Given the description of an element on the screen output the (x, y) to click on. 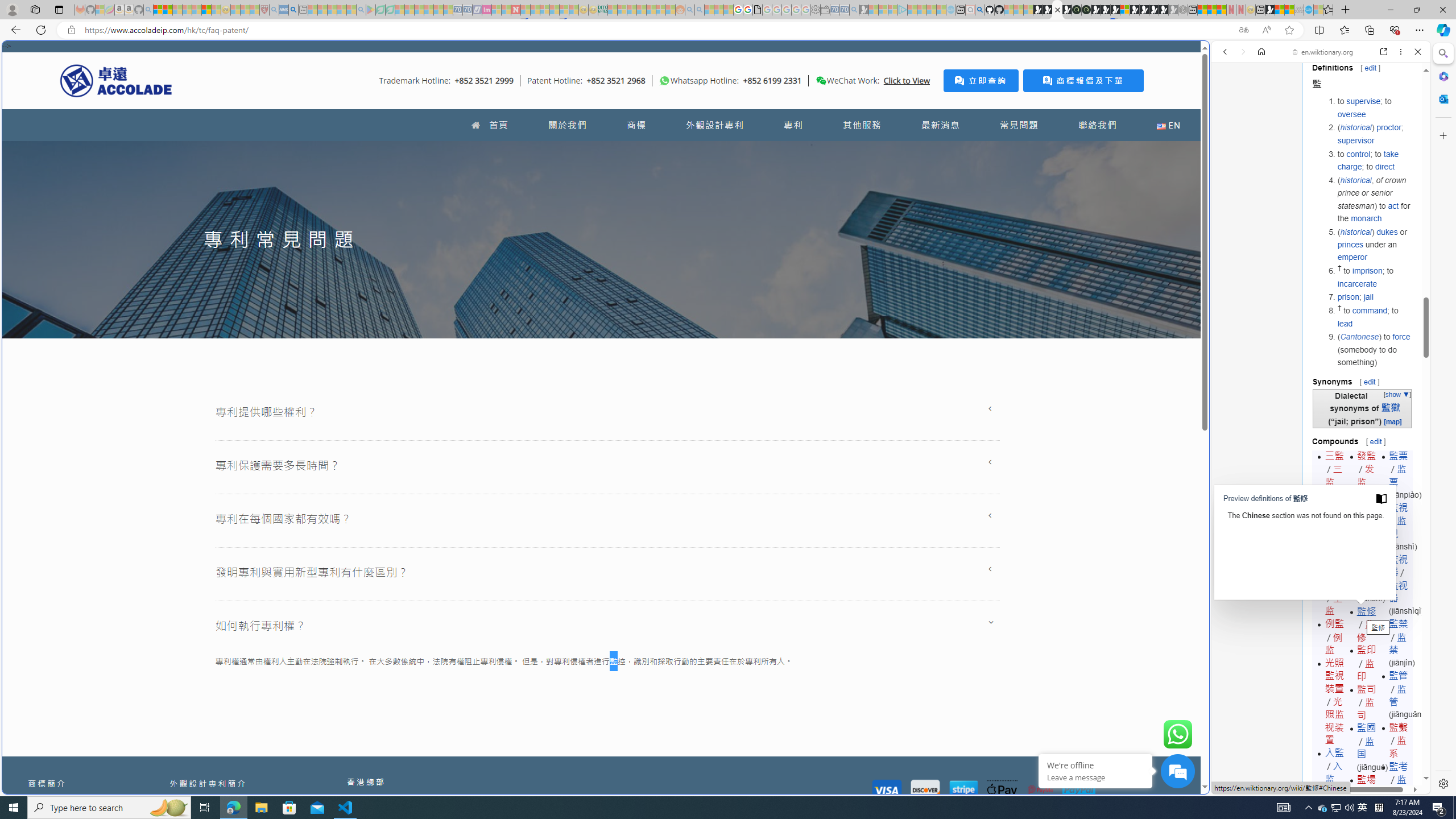
[map] (1392, 420)
